Given the description of an element on the screen output the (x, y) to click on. 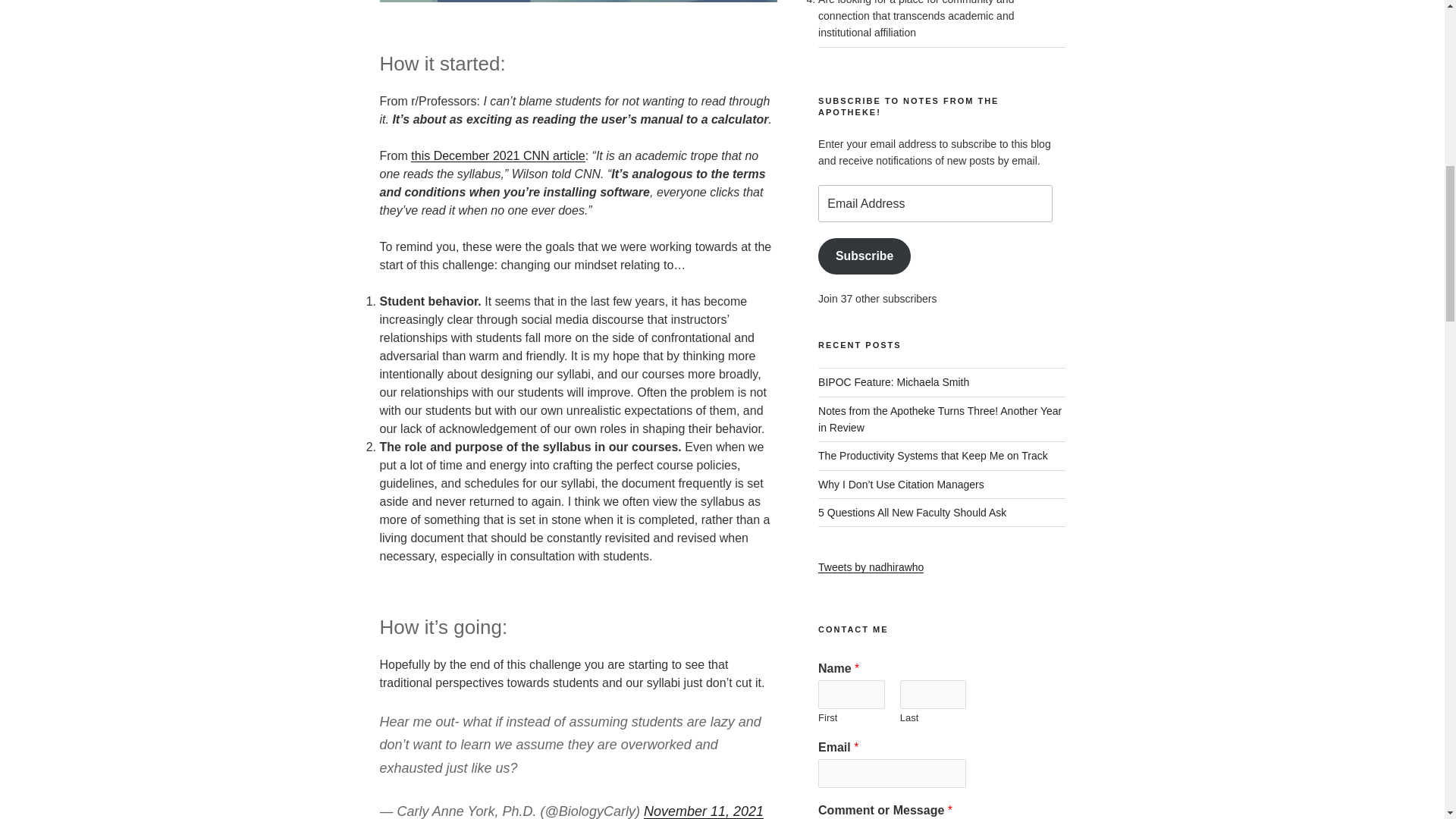
this December 2021 CNN article (497, 155)
November 11, 2021 (702, 811)
The Productivity Systems that Keep Me on Track (933, 455)
Subscribe (864, 256)
BIPOC Feature: Michaela Smith (893, 381)
Notes from the Apotheke Turns Three! Another Year in Review (939, 419)
